Given the description of an element on the screen output the (x, y) to click on. 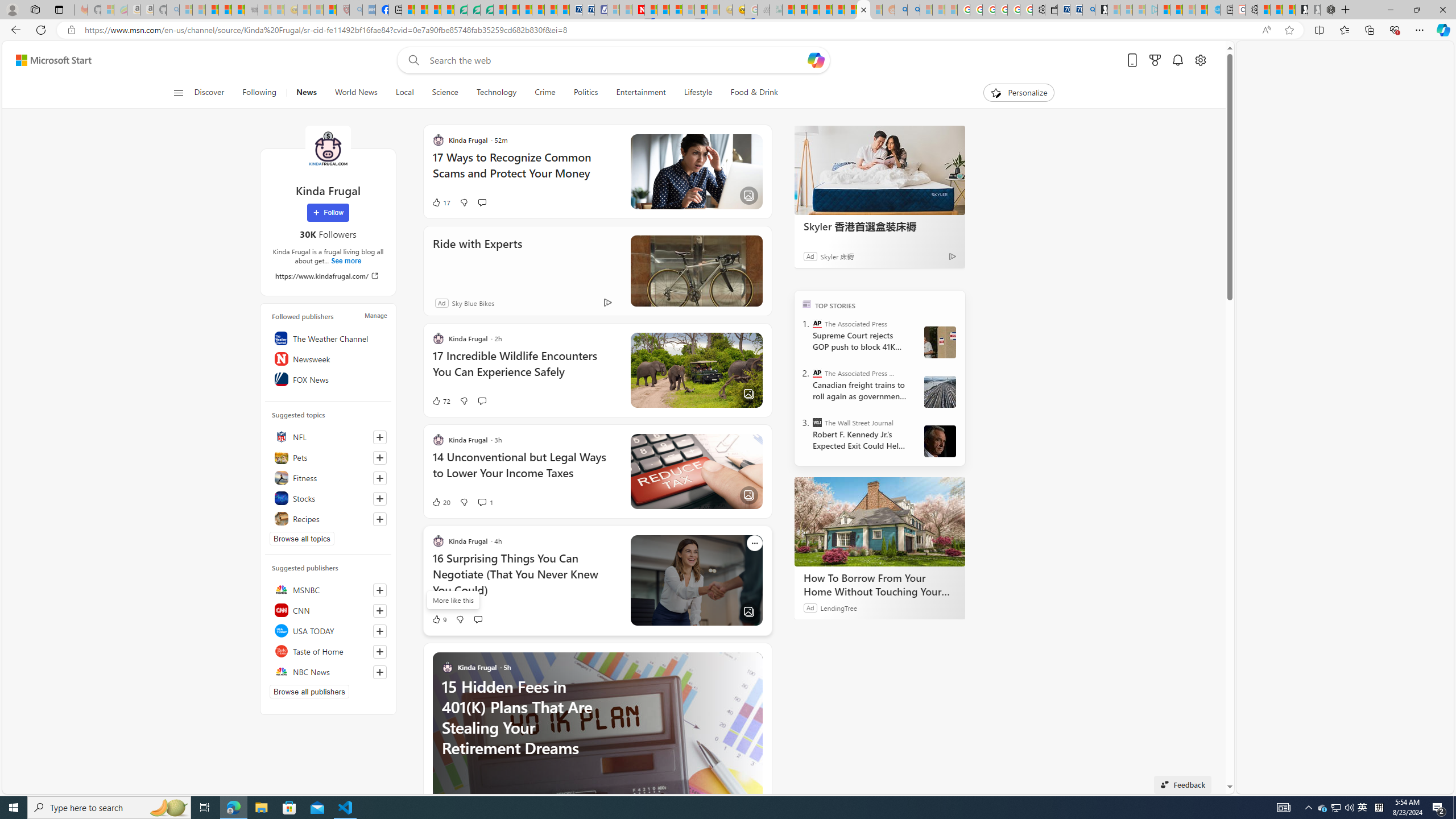
Pets (327, 456)
MSNBC (327, 589)
Personalize (1019, 92)
Taste of Home (327, 650)
LendingTree - Compare Lenders (460, 9)
72 Like (440, 400)
17 Like (440, 202)
Recipes (327, 518)
